Given the description of an element on the screen output the (x, y) to click on. 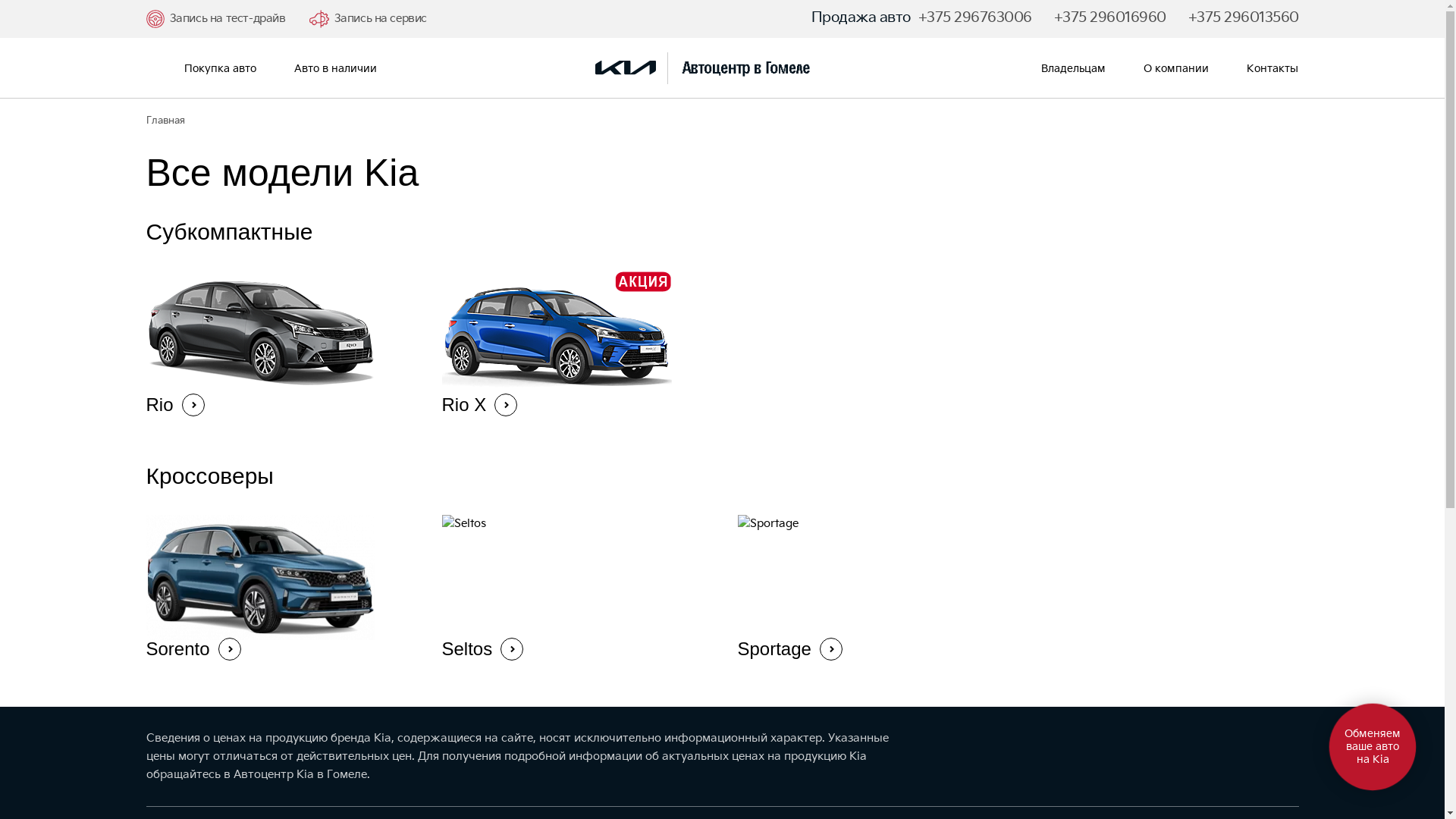
Rio Element type: text (278, 344)
+375 296016960 Element type: text (1110, 18)
Sportage Element type: text (869, 588)
+375 296013560 Element type: text (1242, 18)
Seltos Element type: text (573, 588)
+375 296763006 Element type: text (974, 18)
Sorento Element type: text (278, 588)
Rio X Element type: text (573, 344)
